Given the description of an element on the screen output the (x, y) to click on. 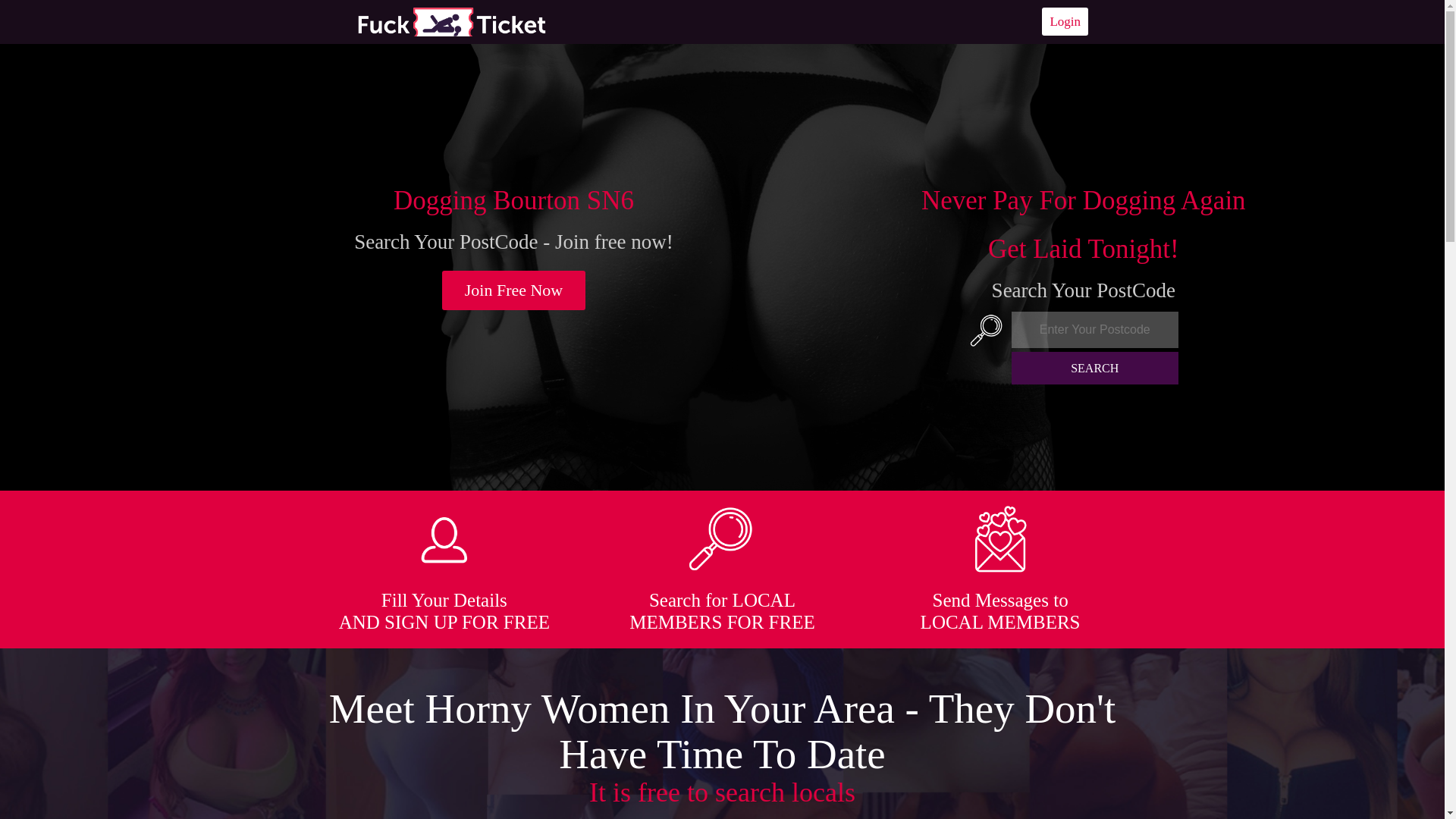
SEARCH (1094, 368)
Join Free Now (514, 290)
Join (514, 290)
Login to doggingnearme.uk (1064, 21)
Login (1064, 21)
Dogging Near Me (451, 21)
